Given the description of an element on the screen output the (x, y) to click on. 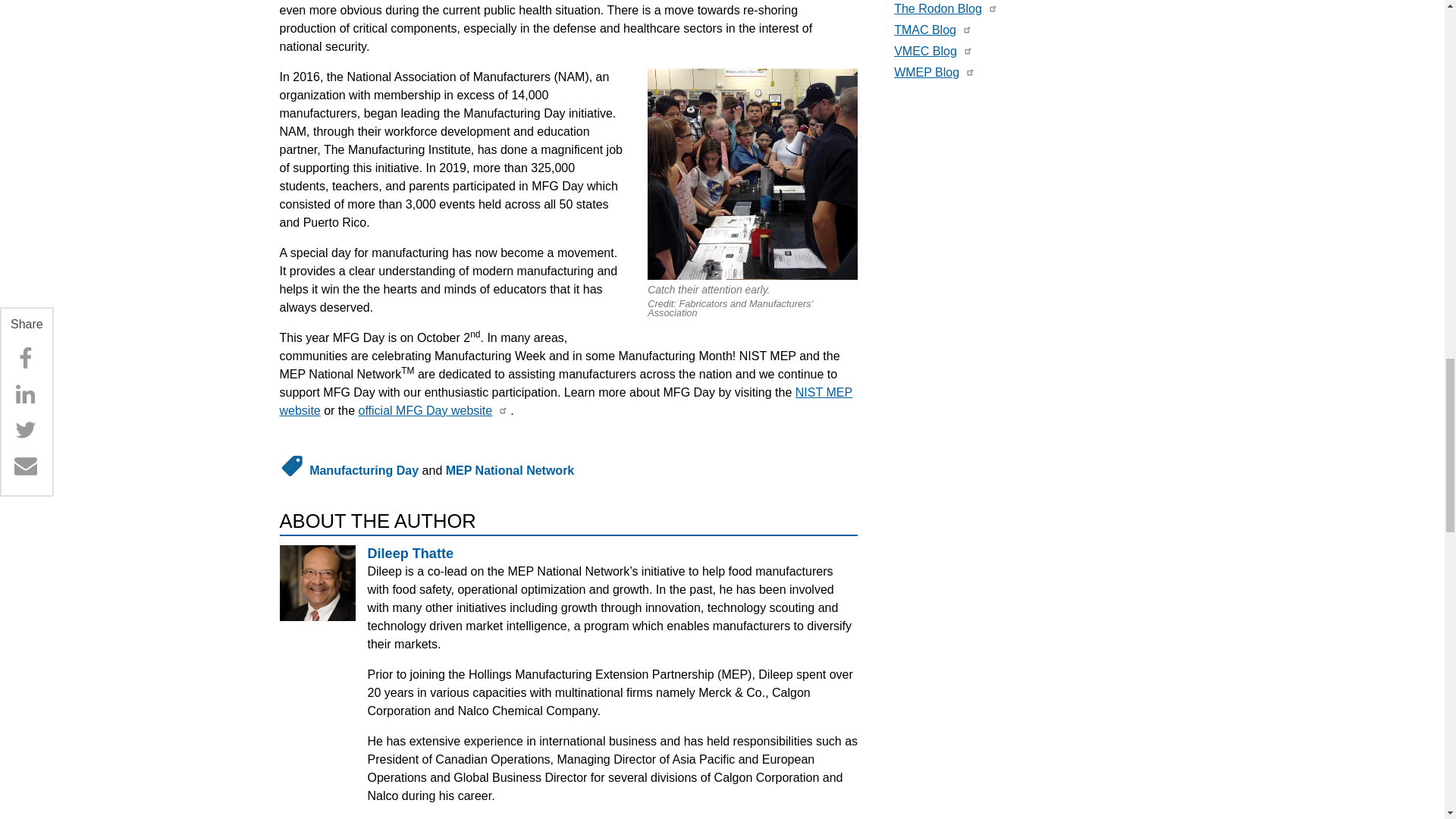
Manufacturing Day (363, 470)
NIST MEP website (565, 400)
official MFG Day website (425, 410)
Dileep Thatte (409, 553)
MEP National Network (510, 470)
